Given the description of an element on the screen output the (x, y) to click on. 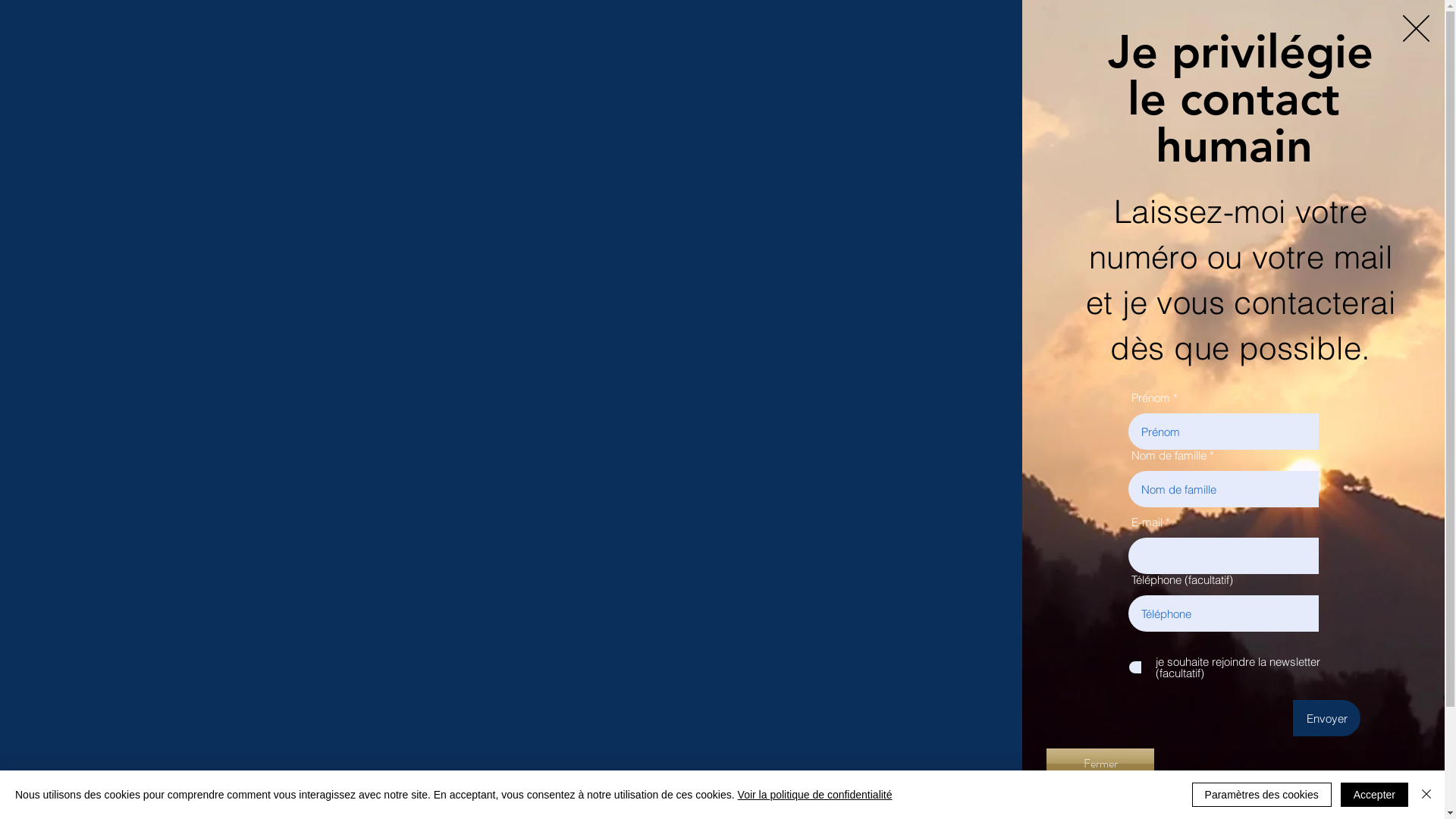
Accepter Element type: text (1374, 794)
Accueil Element type: text (778, 35)
S'abonner Element type: text (1018, 216)
Mon parcours Element type: text (947, 35)
Danse Element type: text (1270, 35)
Envoyer Element type: text (1326, 717)
Retour au site Element type: hover (1415, 28)
Profil Element type: text (385, 266)
0
Abonnements Element type: text (596, 214)
Events Element type: text (442, 266)
Services Element type: text (852, 35)
LE CLUB Element type: text (1044, 35)
